Given the description of an element on the screen output the (x, y) to click on. 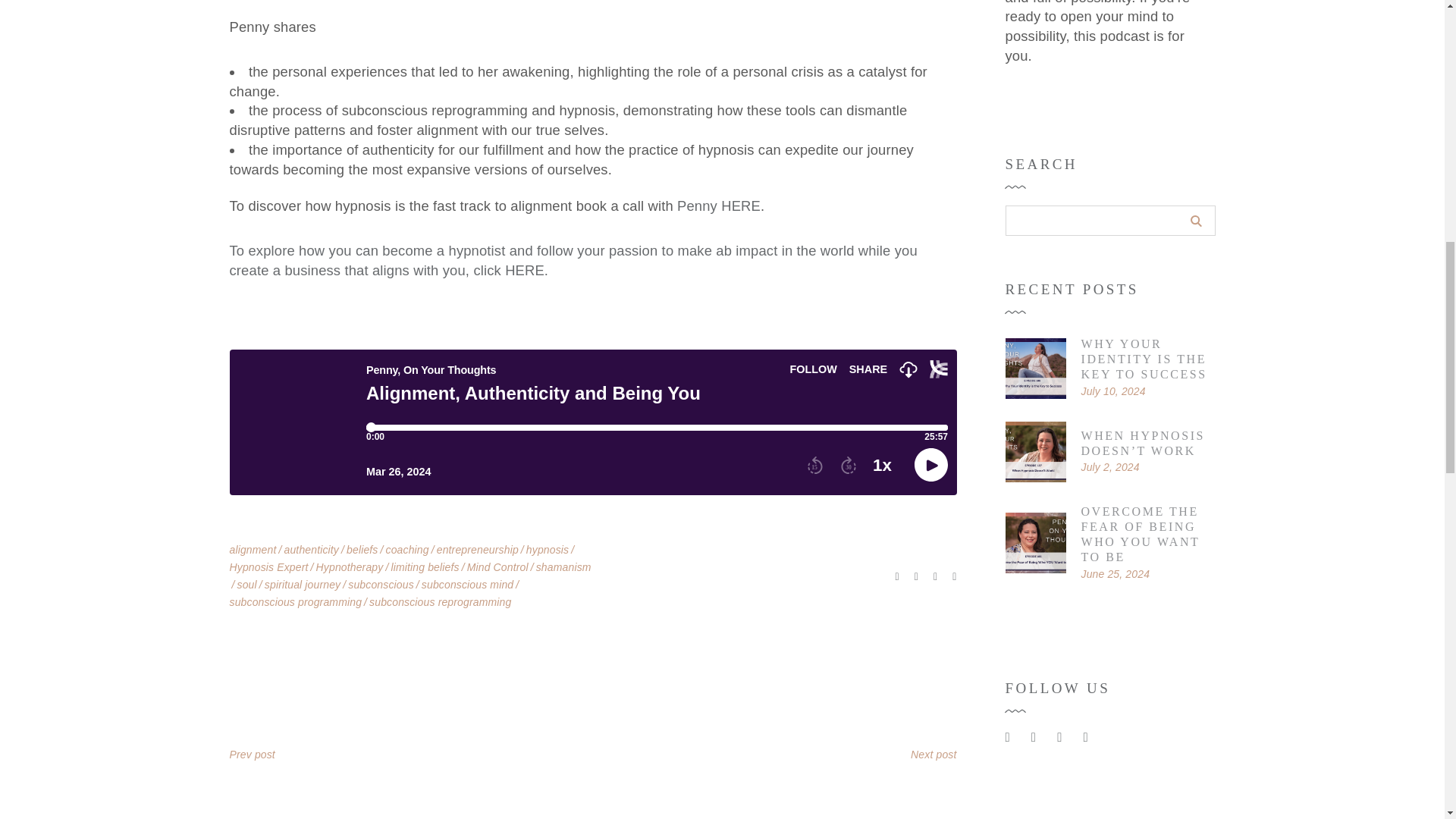
Penny HERE (718, 205)
Title Text:  (1110, 466)
alignment (252, 549)
authenticity (311, 549)
Embed Player (592, 422)
Title Text:  (1113, 390)
Title Text:  (1115, 573)
